Given the description of an element on the screen output the (x, y) to click on. 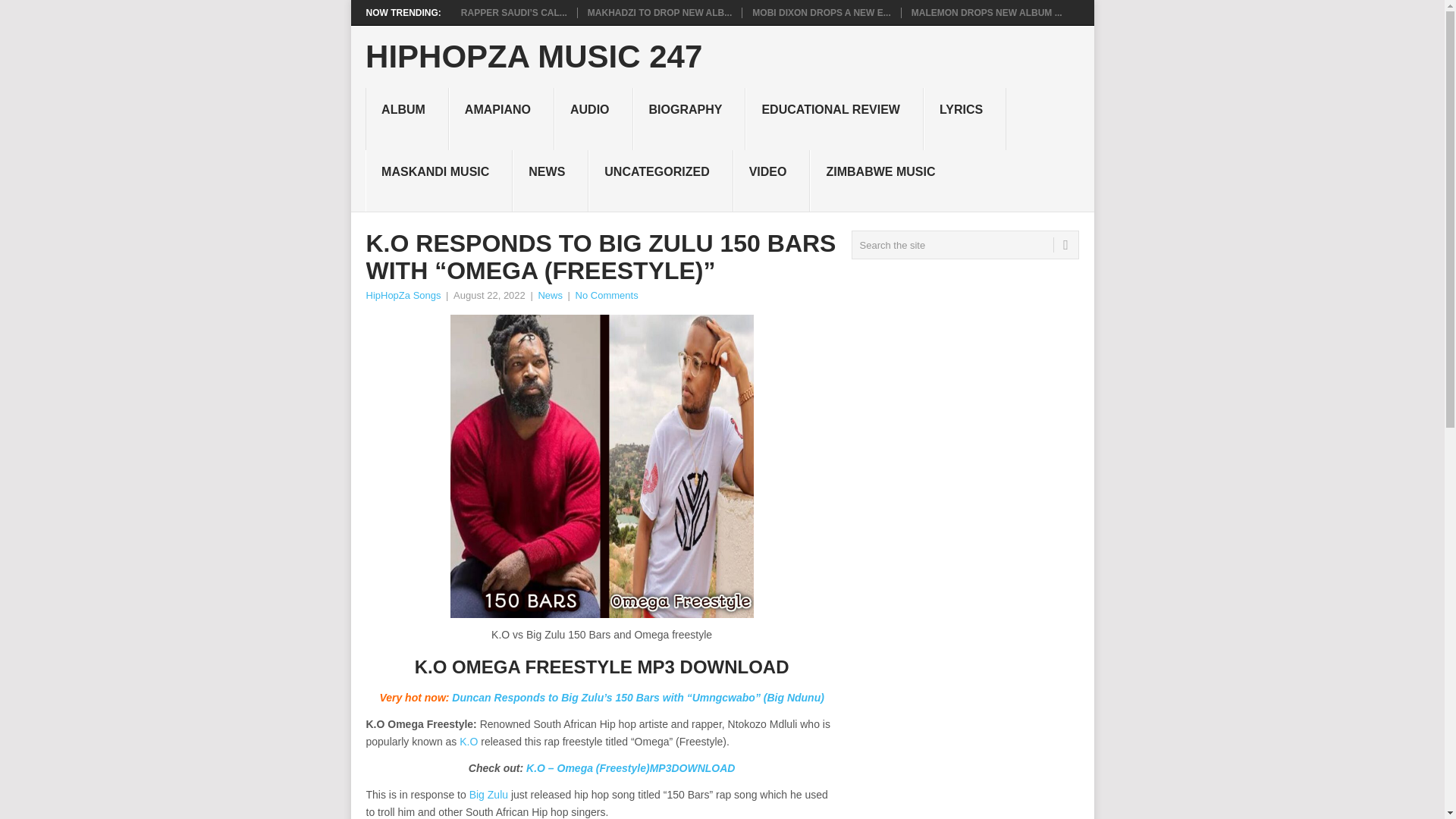
HIPHOPZA MUSIC 247 (533, 56)
BIOGRAPHY (689, 118)
MAKHADZI TO DROP NEW ALB... (660, 12)
UNCATEGORIZED (660, 180)
NEWS (550, 180)
HipHopZa Songs (403, 295)
MOBI DIXON DROPS A NEW E... (820, 12)
LYRICS (964, 118)
News (549, 295)
K.O (468, 741)
